Given the description of an element on the screen output the (x, y) to click on. 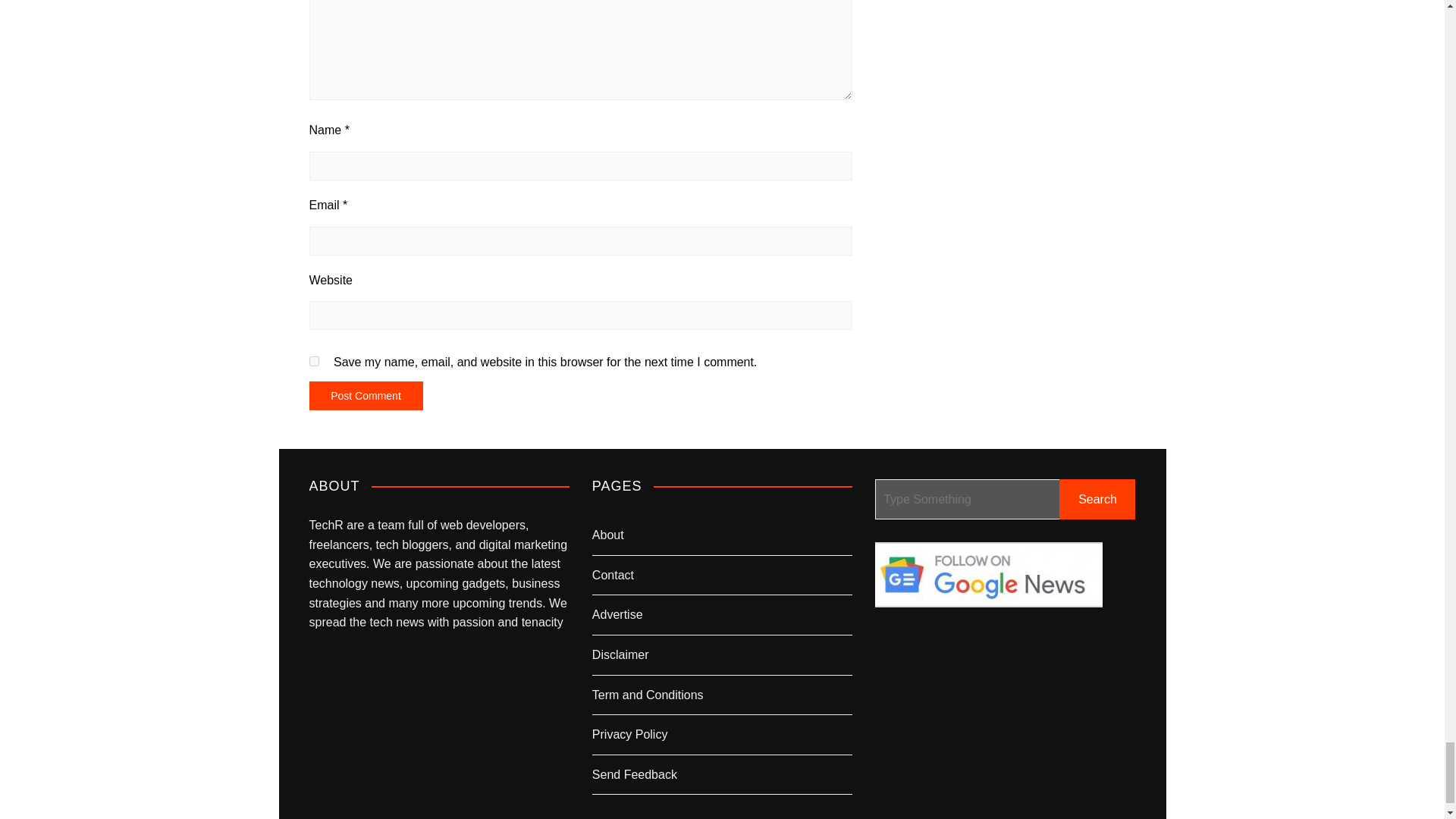
Search (1097, 499)
yes (313, 361)
Post Comment (365, 395)
